Given the description of an element on the screen output the (x, y) to click on. 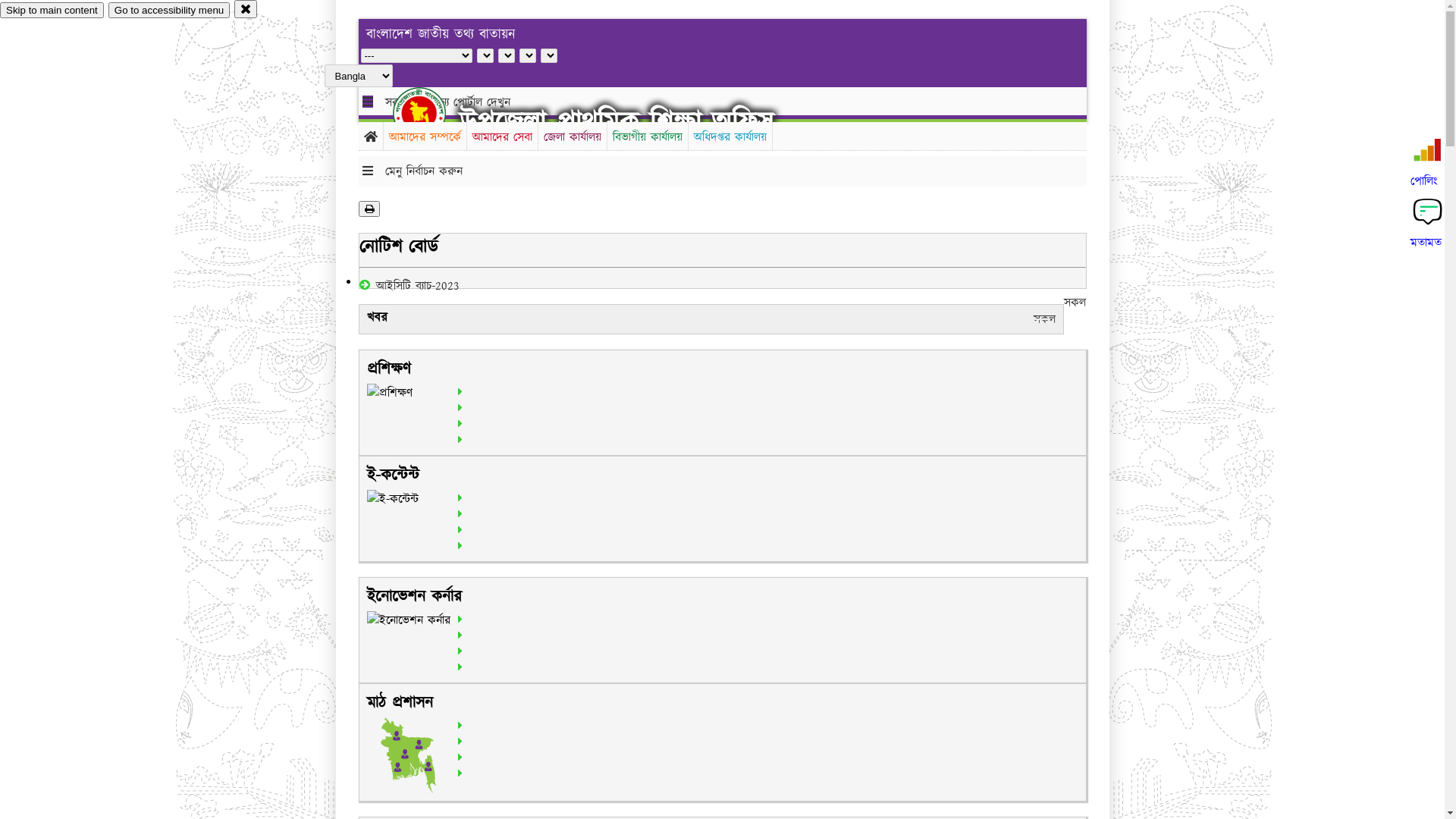
Skip to main content Element type: text (51, 10)

                
             Element type: hover (431, 112)
Go to accessibility menu Element type: text (168, 10)
close Element type: hover (245, 9)
